Given the description of an element on the screen output the (x, y) to click on. 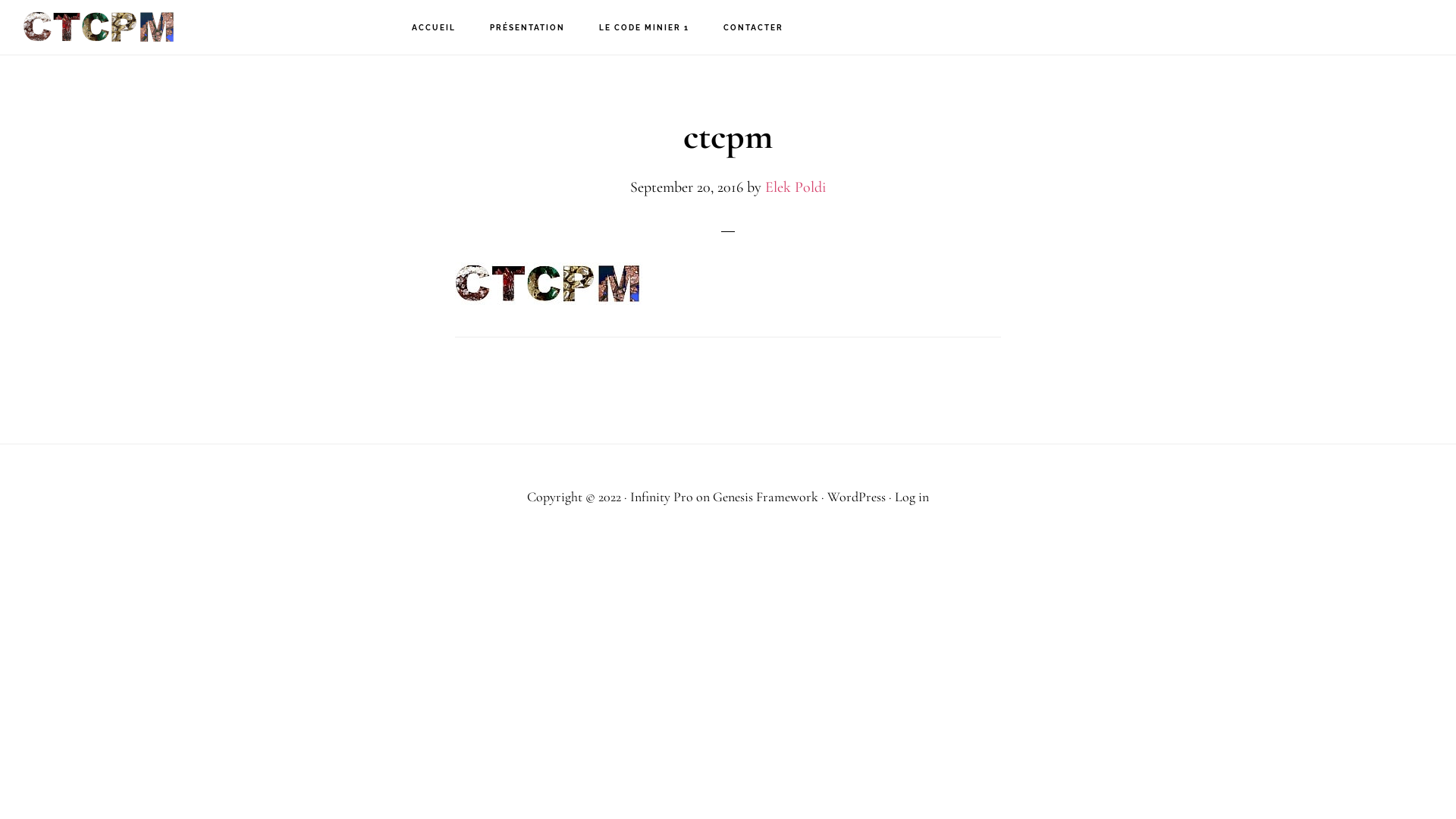
Infinity Pro Element type: text (661, 496)
MINING CONGO Element type: text (98, 26)
Elek Poldi Element type: text (795, 187)
Skip to primary navigation Element type: text (0, 0)
LE CODE MINIER 1 Element type: text (643, 27)
WordPress Element type: text (856, 496)
Log in Element type: text (911, 496)
ACCUEIL Element type: text (433, 27)
CONTACTER Element type: text (753, 27)
Genesis Framework Element type: text (765, 496)
